Given the description of an element on the screen output the (x, y) to click on. 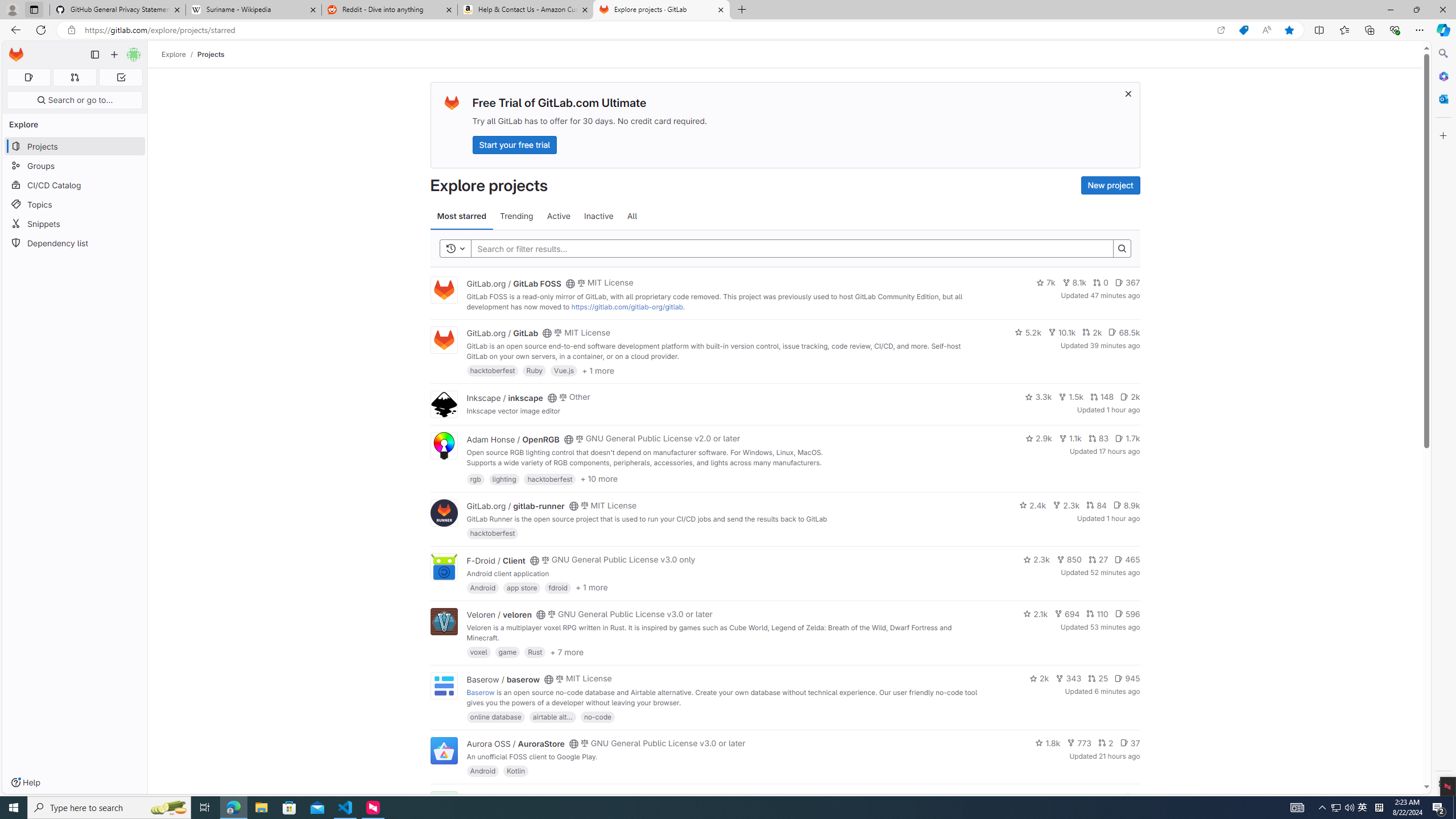
850 (1068, 559)
7k (1045, 282)
465 (1127, 559)
1.7k (1127, 438)
5.2k (1027, 331)
Start your free trial (514, 144)
2.3k (1035, 559)
F (443, 805)
Dependency list (74, 242)
Explore (173, 53)
